Given the description of an element on the screen output the (x, y) to click on. 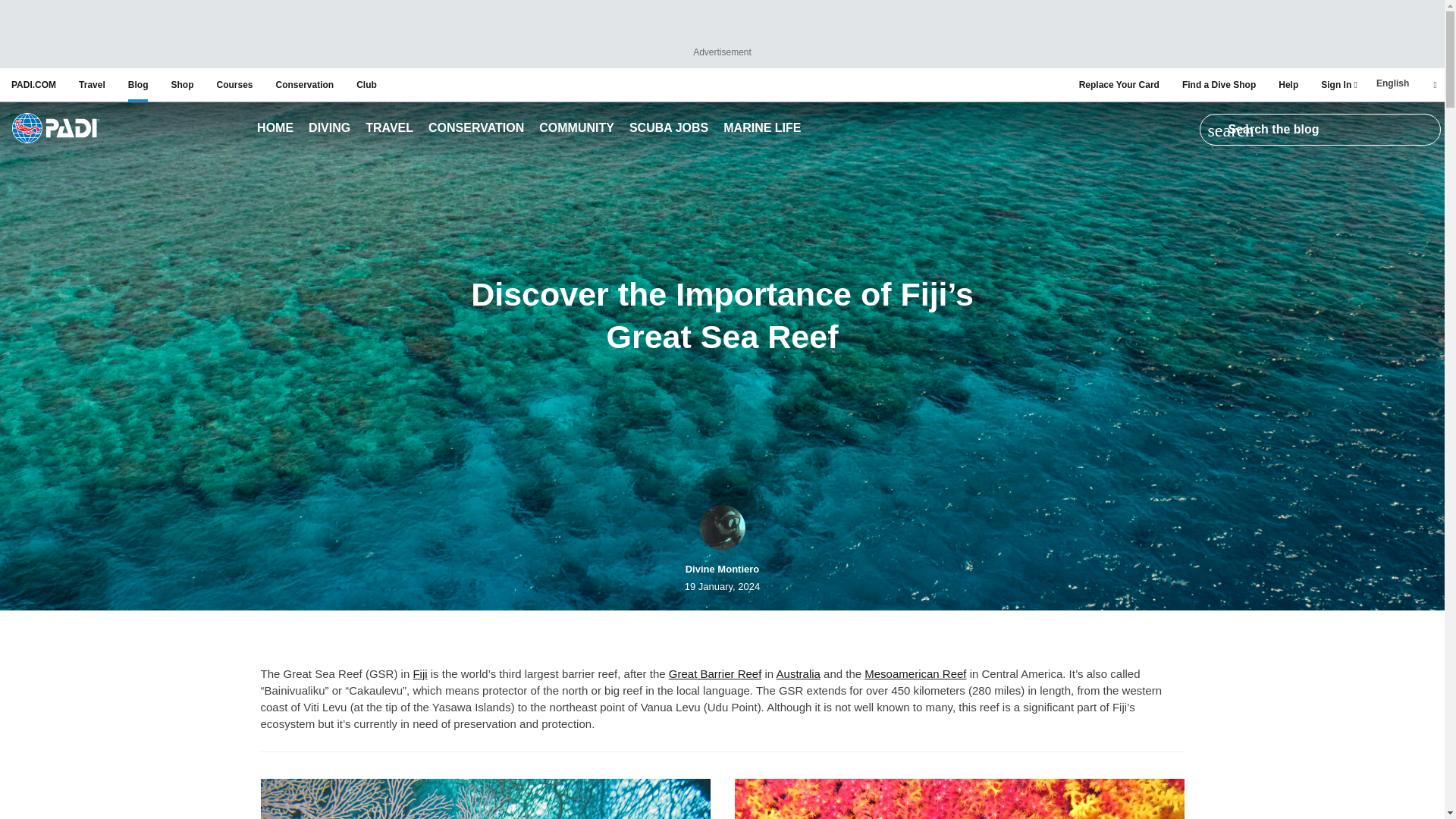
HOME (275, 128)
Conservation (475, 128)
Courses (233, 84)
Marine Life (762, 128)
Home (55, 129)
MARINE LIFE (762, 128)
DIVING (329, 128)
Travel (389, 128)
PADI.COM (33, 84)
TRAVEL (389, 128)
Sign In (1338, 84)
Community (576, 128)
Home (275, 128)
3rd party ad content (721, 26)
Find a Dive Shop (1218, 84)
